Given the description of an element on the screen output the (x, y) to click on. 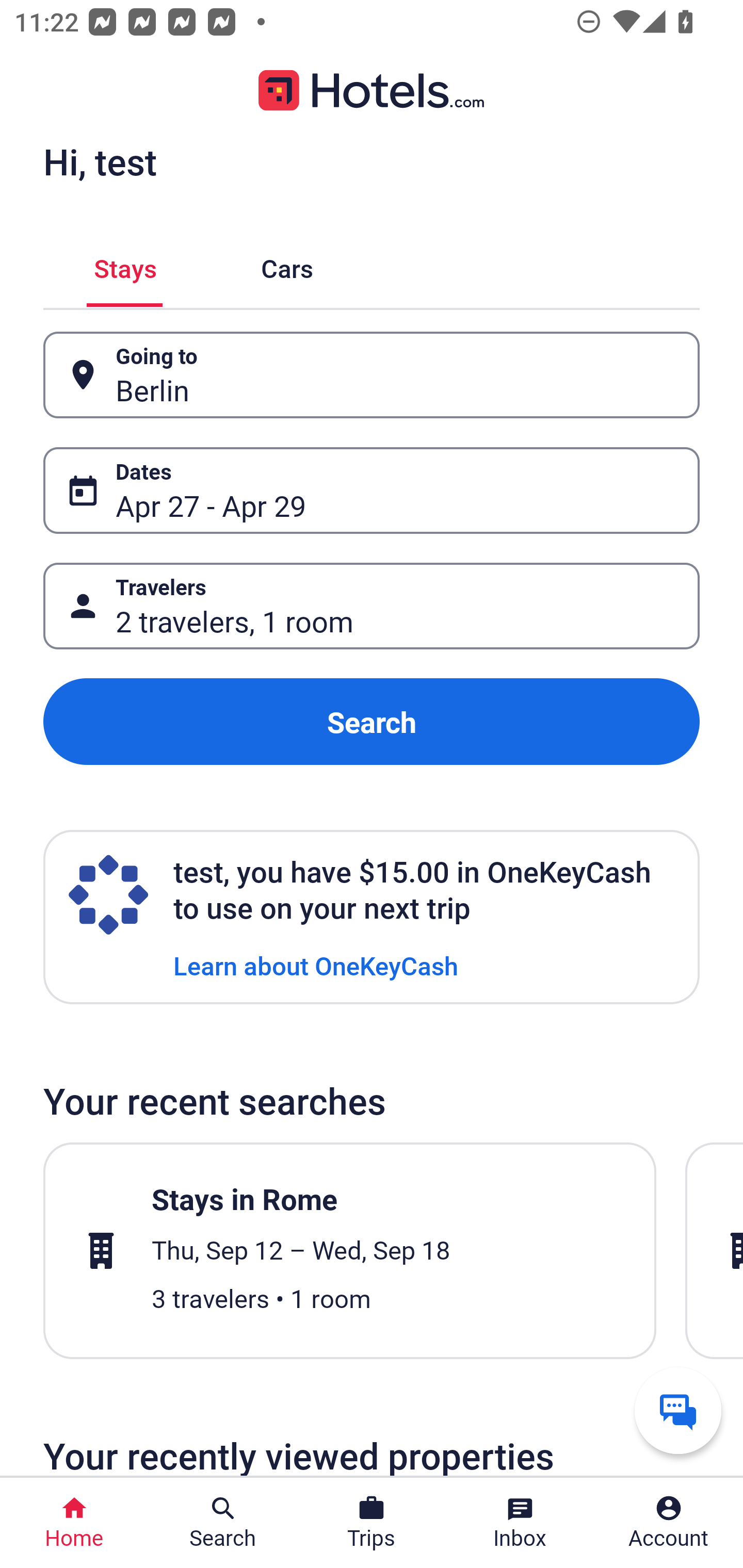
Hi, test (99, 161)
Cars (286, 265)
Going to Button Berlin (371, 375)
Dates Button Apr 27 - Apr 29 (371, 489)
Travelers Button 2 travelers, 1 room (371, 605)
Search (371, 721)
Learn about OneKeyCash Learn about OneKeyCash Link (315, 964)
Get help from a virtual agent (677, 1410)
Search Search Button (222, 1522)
Trips Trips Button (371, 1522)
Inbox Inbox Button (519, 1522)
Account Profile. Button (668, 1522)
